Given the description of an element on the screen output the (x, y) to click on. 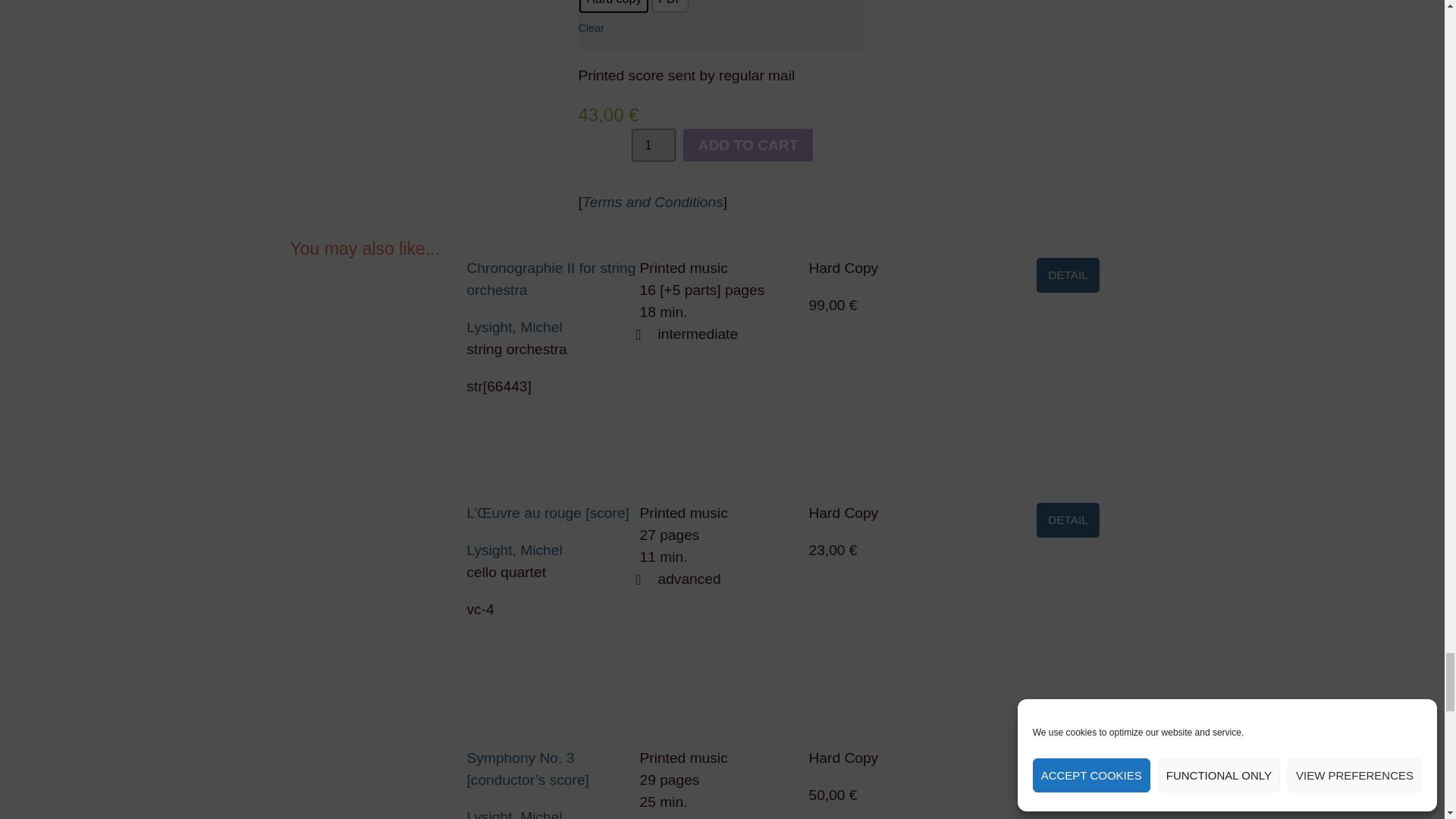
1 (653, 144)
Terms and Conditions of Sales (652, 201)
PDF (669, 5)
Hard copy (613, 5)
Qty (653, 144)
